Given the description of an element on the screen output the (x, y) to click on. 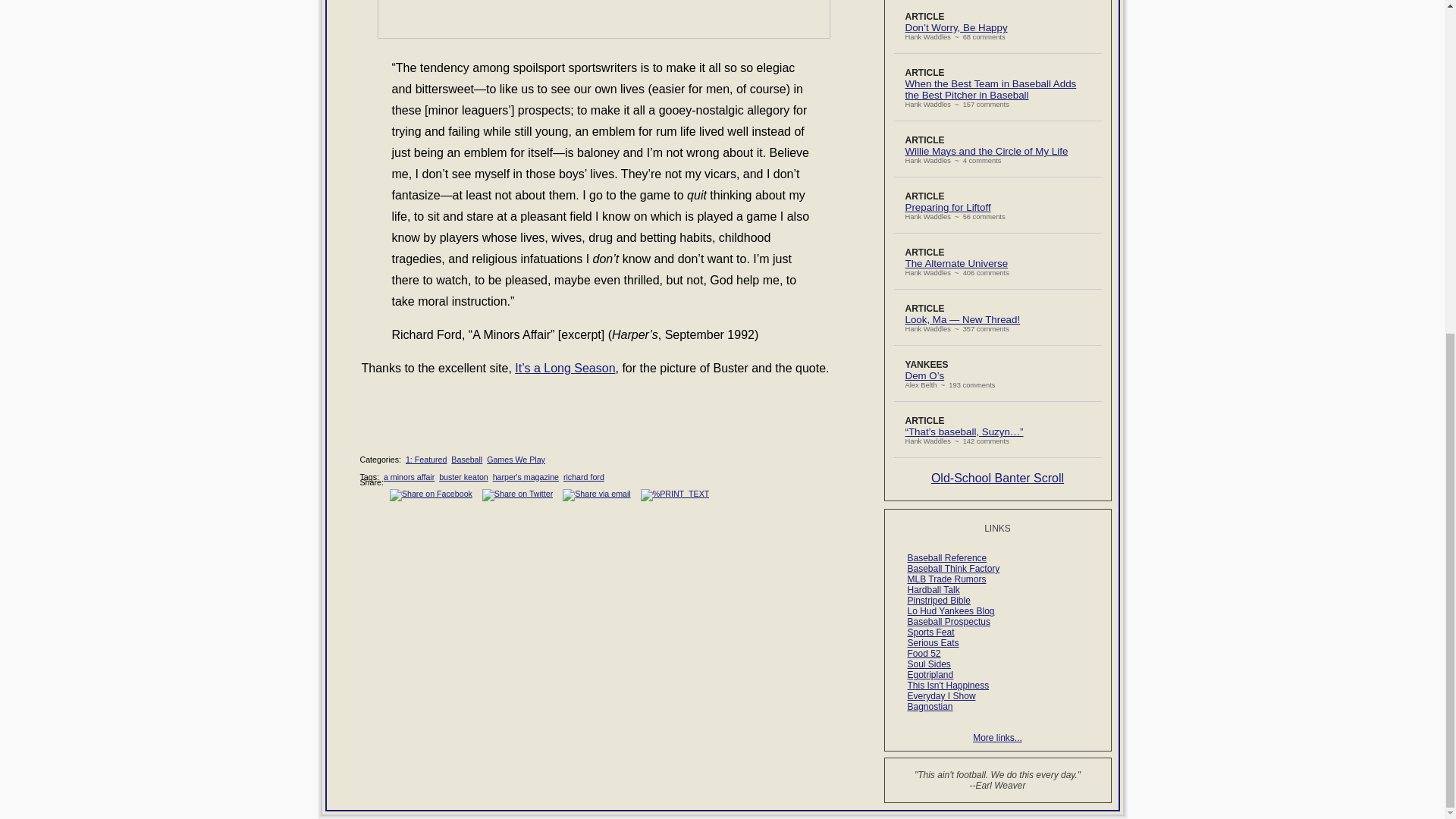
Print This Post (675, 492)
Print This Post (675, 494)
Share on Facebook (430, 494)
Permanent link to Willie Mays and the Circle of My Life (986, 151)
Permanent link to Preparing for Liftoff (948, 206)
Share on Twitter (517, 494)
Share via email (596, 494)
